Given the description of an element on the screen output the (x, y) to click on. 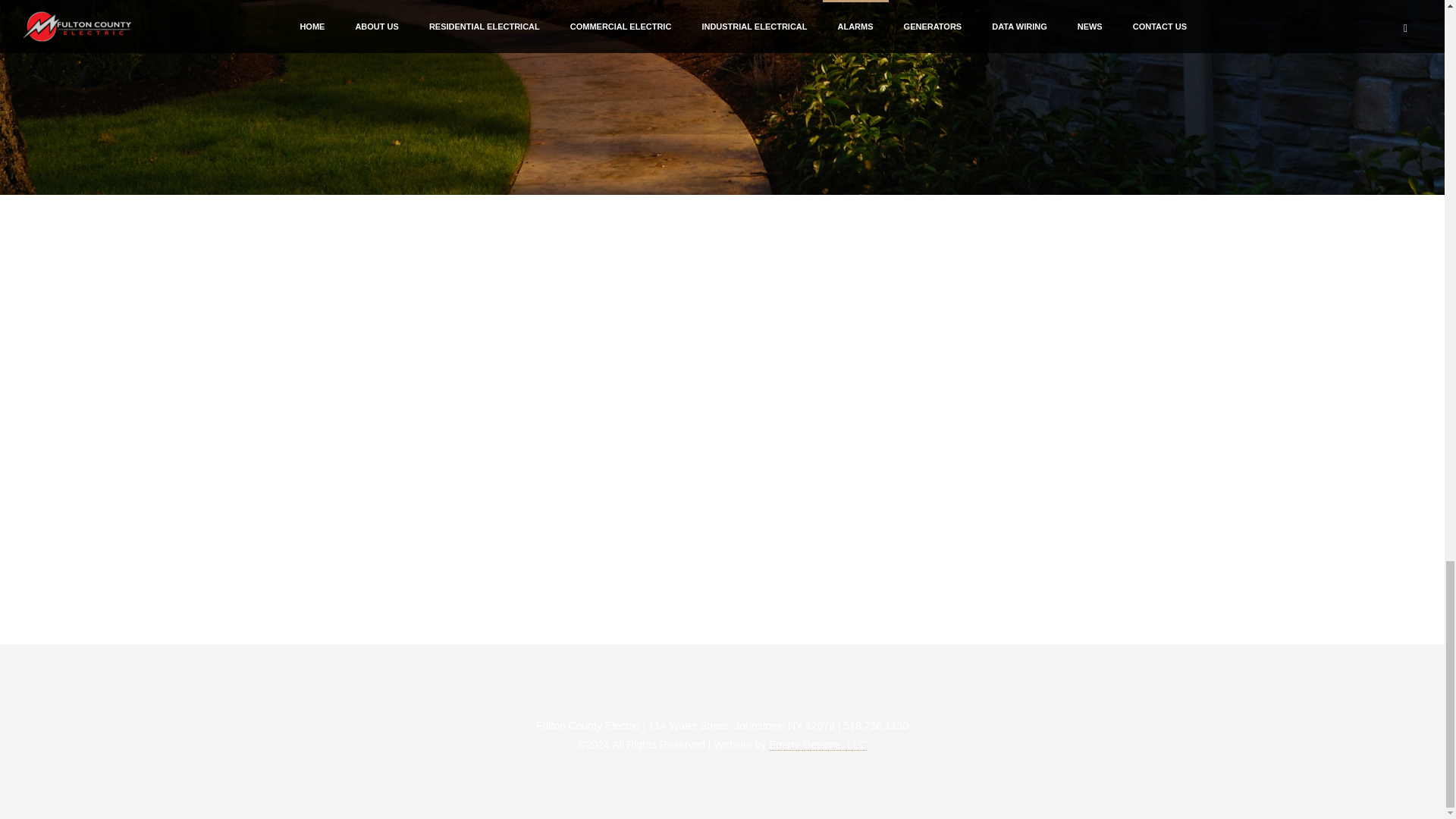
Emery Designs, LLC (817, 744)
